Given the description of an element on the screen output the (x, y) to click on. 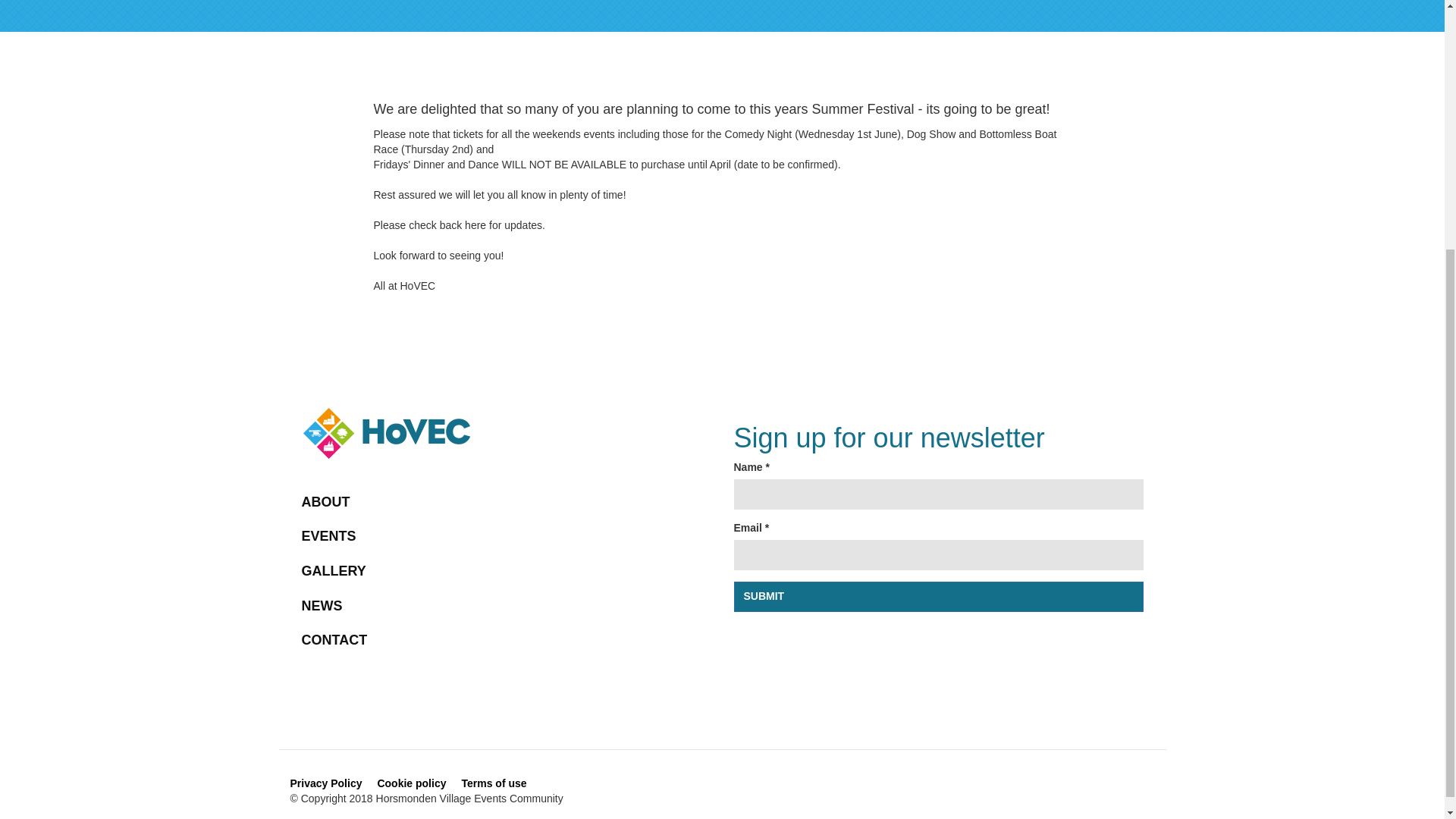
This field is required. (767, 467)
Terms of use (493, 783)
NEWS (506, 605)
SUBMIT (937, 596)
EVENTS (506, 536)
GALLERY (506, 571)
Cookie policy (411, 783)
Privacy Policy (325, 783)
ABOUT (506, 502)
This field is required. (766, 527)
CONTACT (506, 640)
